Given the description of an element on the screen output the (x, y) to click on. 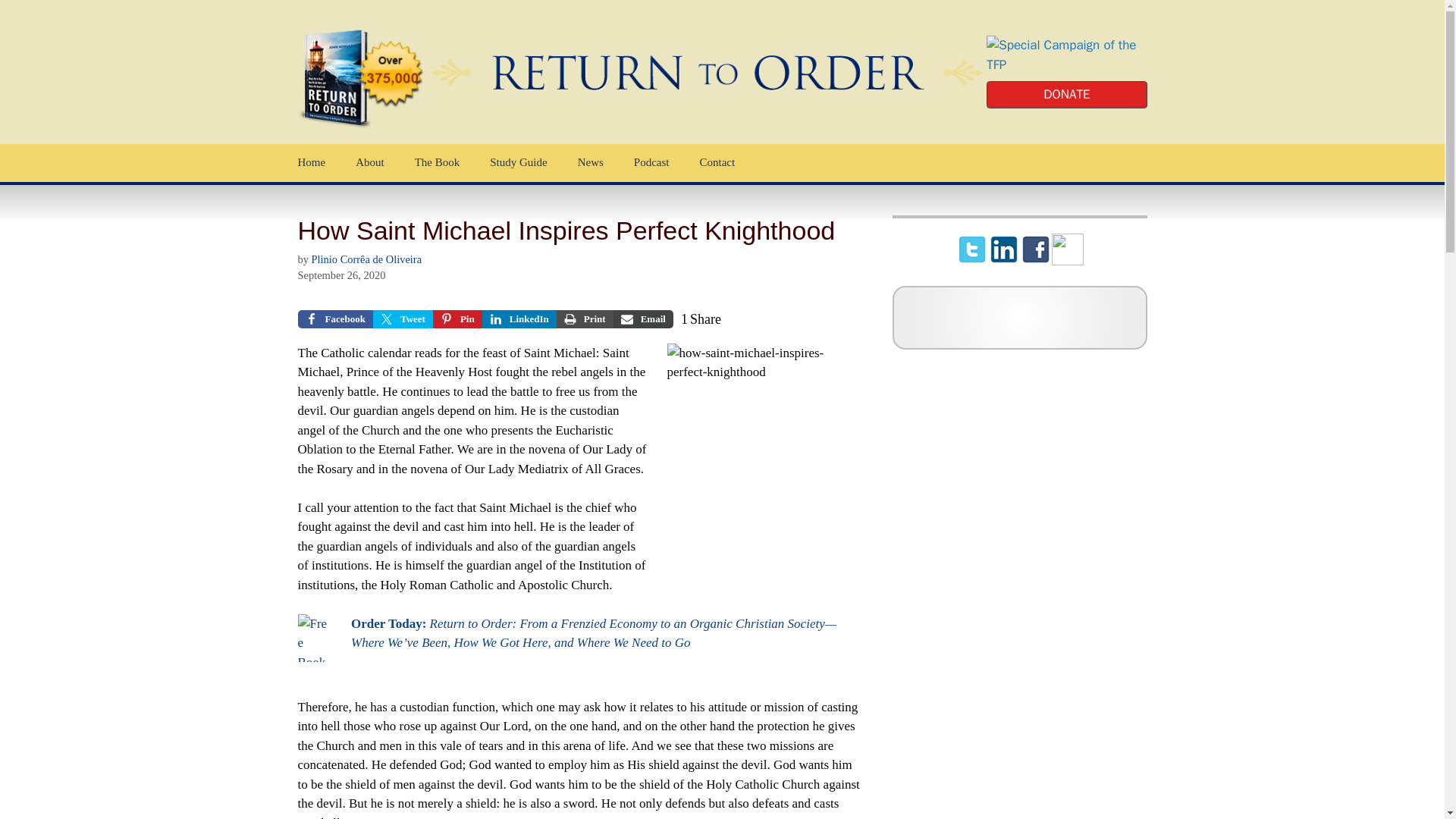
Share via Email (642, 319)
Share on LinkedIn (518, 319)
Share on Pinterest (456, 319)
Study Guide (518, 162)
Share on Twitter (402, 319)
Podcast (651, 162)
Email (642, 319)
News (590, 162)
Home (311, 162)
Share on Facebook (334, 319)
